Given the description of an element on the screen output the (x, y) to click on. 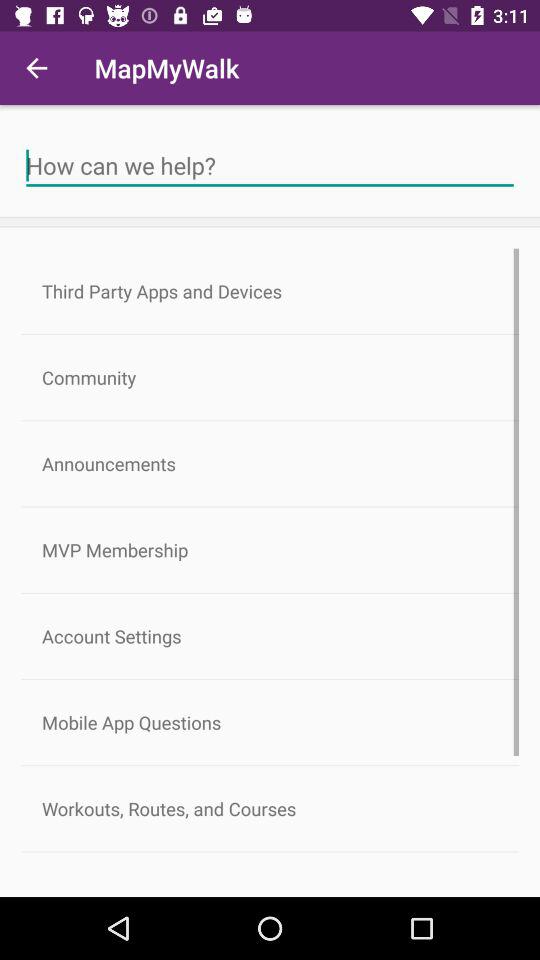
jump to mobile app questions (269, 722)
